Given the description of an element on the screen output the (x, y) to click on. 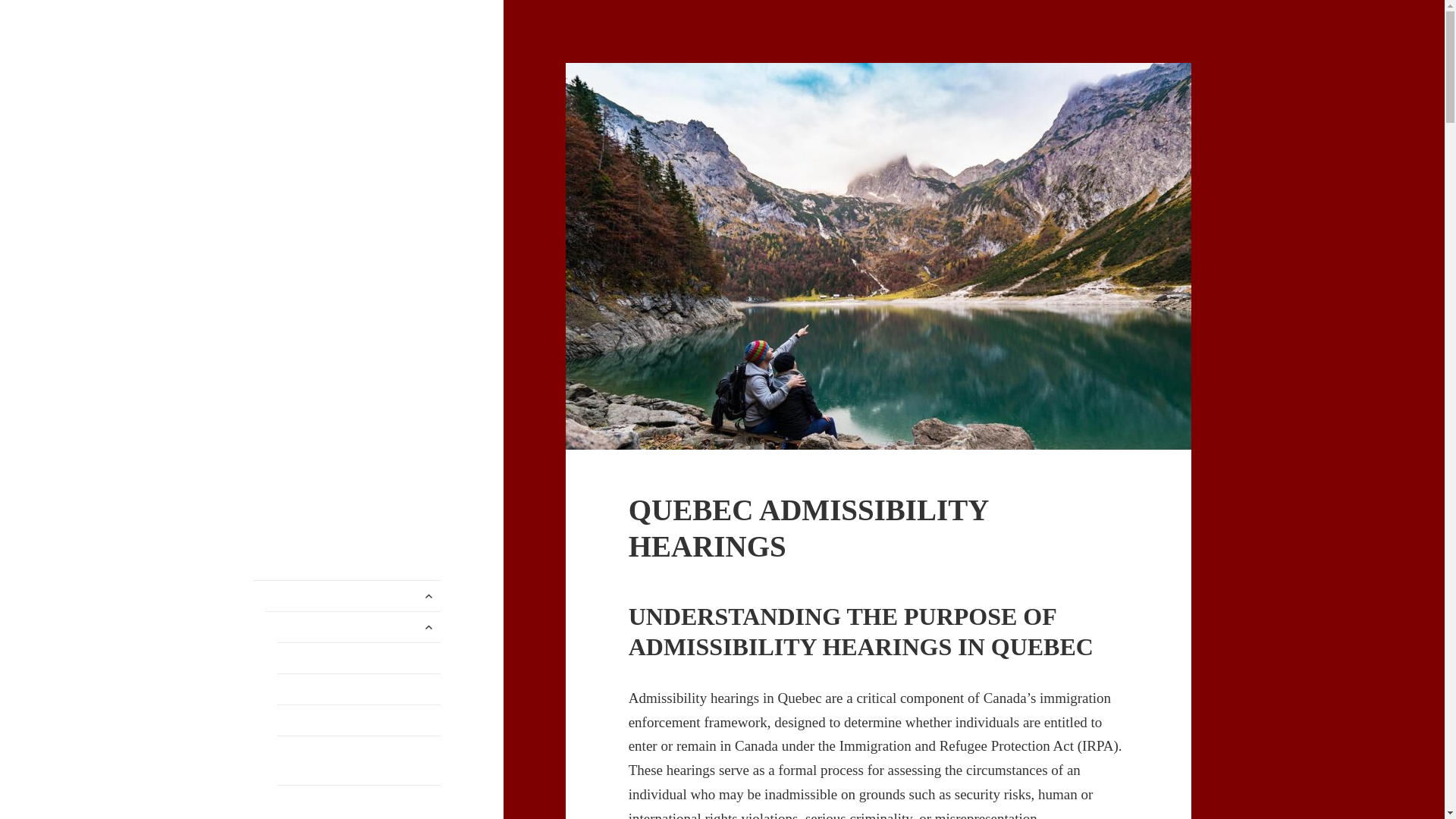
Agri-Food Immigration Pilot (359, 689)
Assessment of State Protection (359, 720)
expand child menu (428, 595)
Best Interests of the Child Considerations (359, 802)
Immigration Lawyers in Canada (346, 86)
Practice Areas (352, 626)
Home (347, 595)
expand child menu (428, 627)
Admissibility Hearings (359, 657)
